Given the description of an element on the screen output the (x, y) to click on. 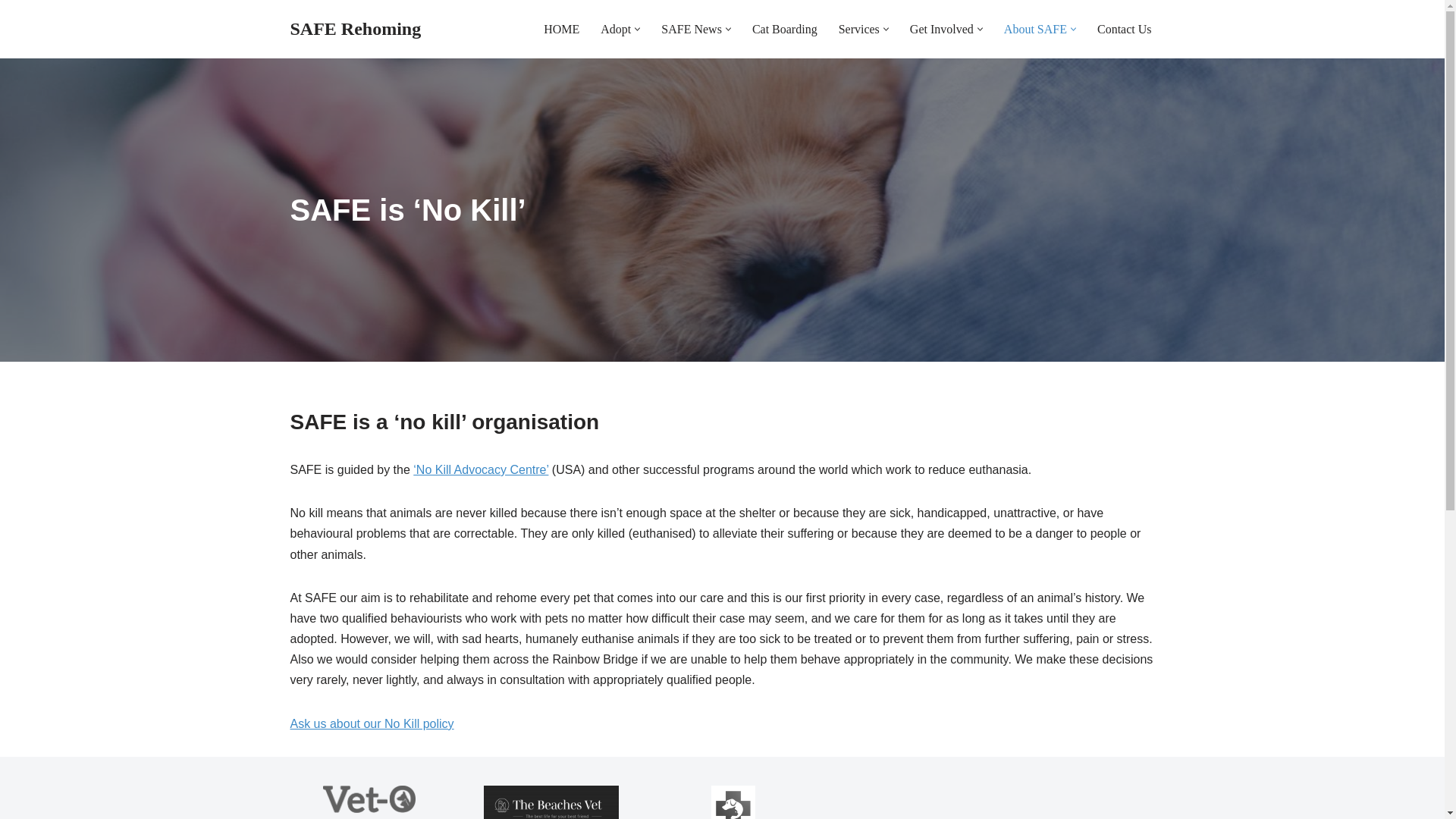
HOME (561, 28)
Adopt (614, 28)
Cat Boarding (784, 28)
Contact Us (1124, 28)
Services (858, 28)
Skip to content (11, 31)
Get Involved (942, 28)
SAFE Rehoming (354, 29)
About SAFE (1035, 28)
SAFE News (691, 28)
